Given the description of an element on the screen output the (x, y) to click on. 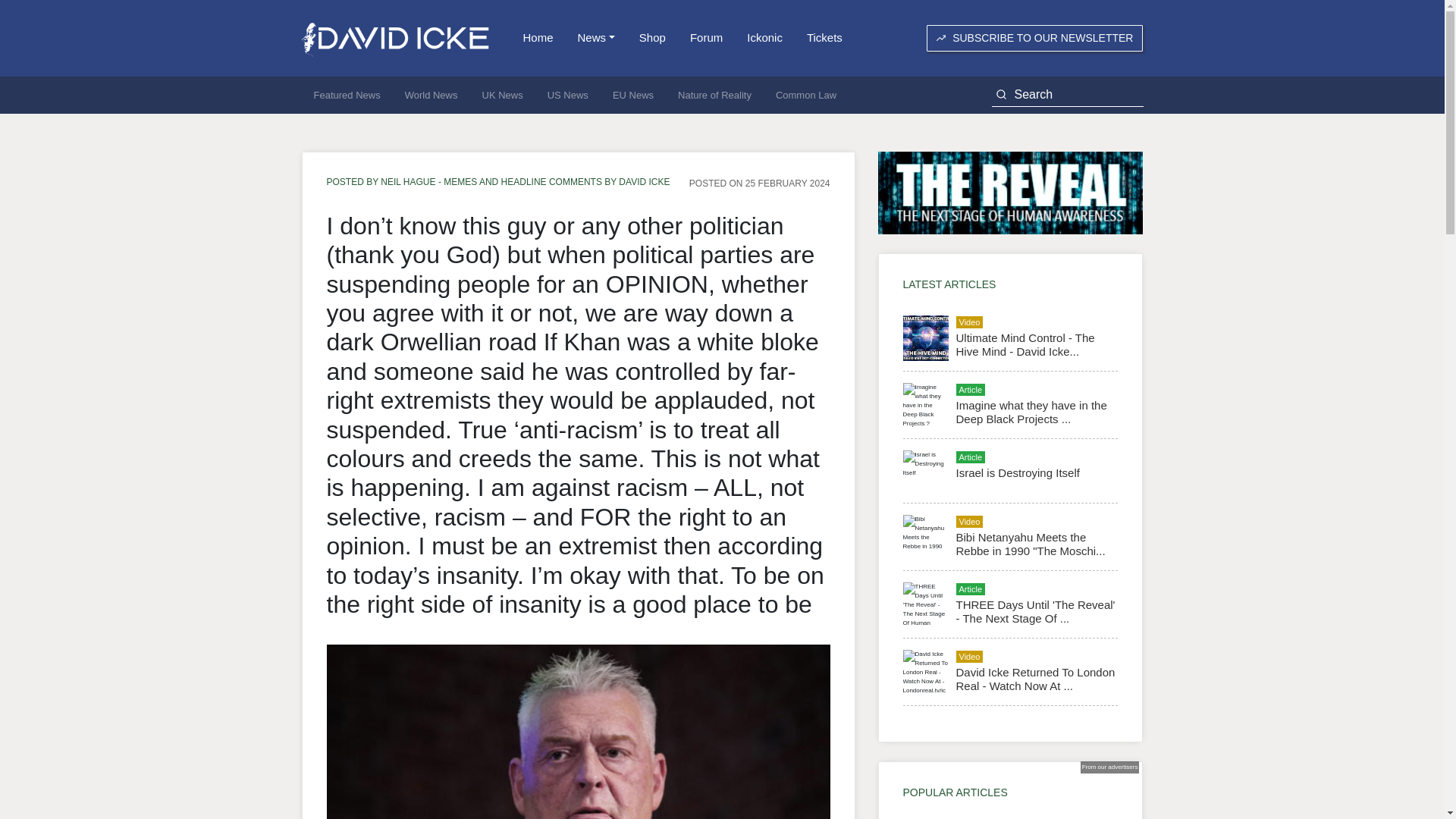
World News (431, 94)
Nature of Reality (713, 94)
Ickonic (764, 37)
US News (567, 94)
Featured News (347, 94)
Common Law (805, 94)
Imagine what they have in the Deep Black Projects ? (1030, 411)
UK News (502, 94)
Tickets (824, 37)
